Given the description of an element on the screen output the (x, y) to click on. 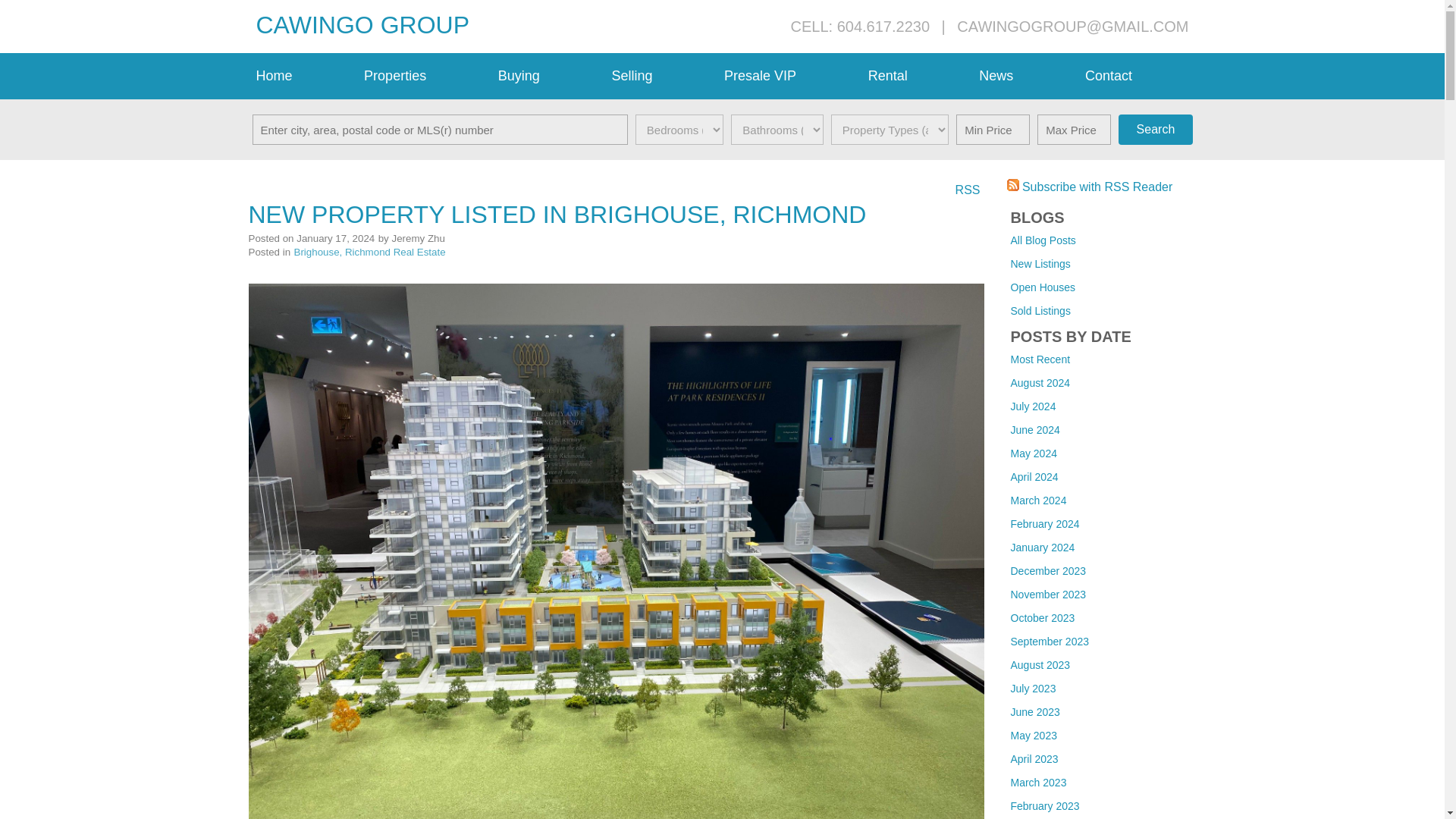
September 2023 (1049, 641)
Rental (916, 76)
October 2023 (1042, 617)
Sold Listings (1040, 310)
February 2024 (1044, 523)
June 2024 (1034, 429)
January 2024 (1042, 547)
All Blog Posts (1042, 240)
Home (302, 76)
Search (1155, 129)
